Given the description of an element on the screen output the (x, y) to click on. 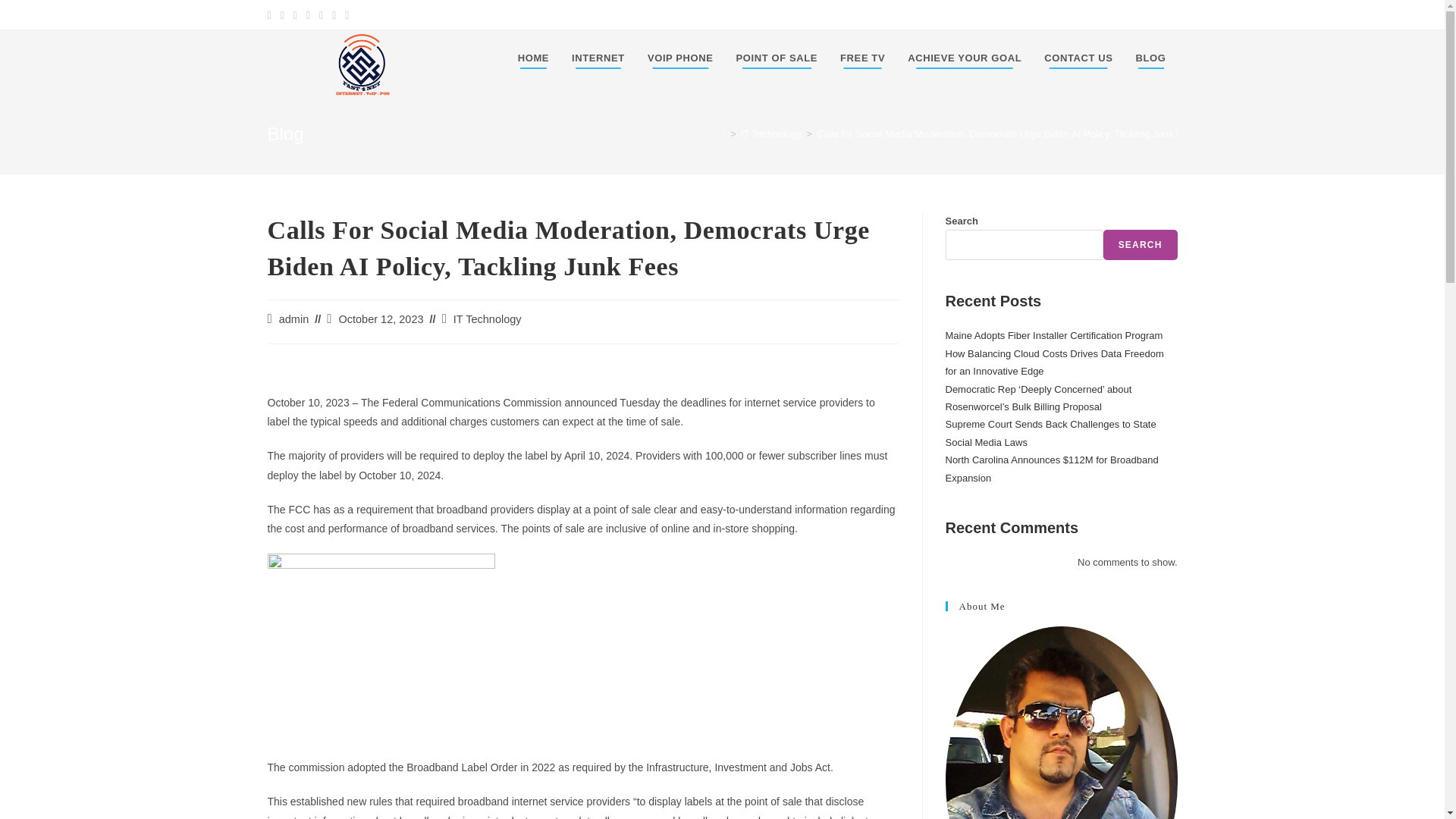
VOIP PHONE (680, 58)
ACHIEVE YOUR GOAL (964, 58)
POINT OF SALE (776, 58)
VOIP PHONE (680, 58)
BLOG (1150, 58)
INTERNET (598, 58)
HOME (533, 58)
INTERNET (598, 58)
admin (293, 318)
FREE TV (862, 58)
CONTACT US (1078, 58)
Posts by admin (293, 318)
ACHIEVE YOUR GOAL (964, 58)
IT Technology (771, 133)
